Given the description of an element on the screen output the (x, y) to click on. 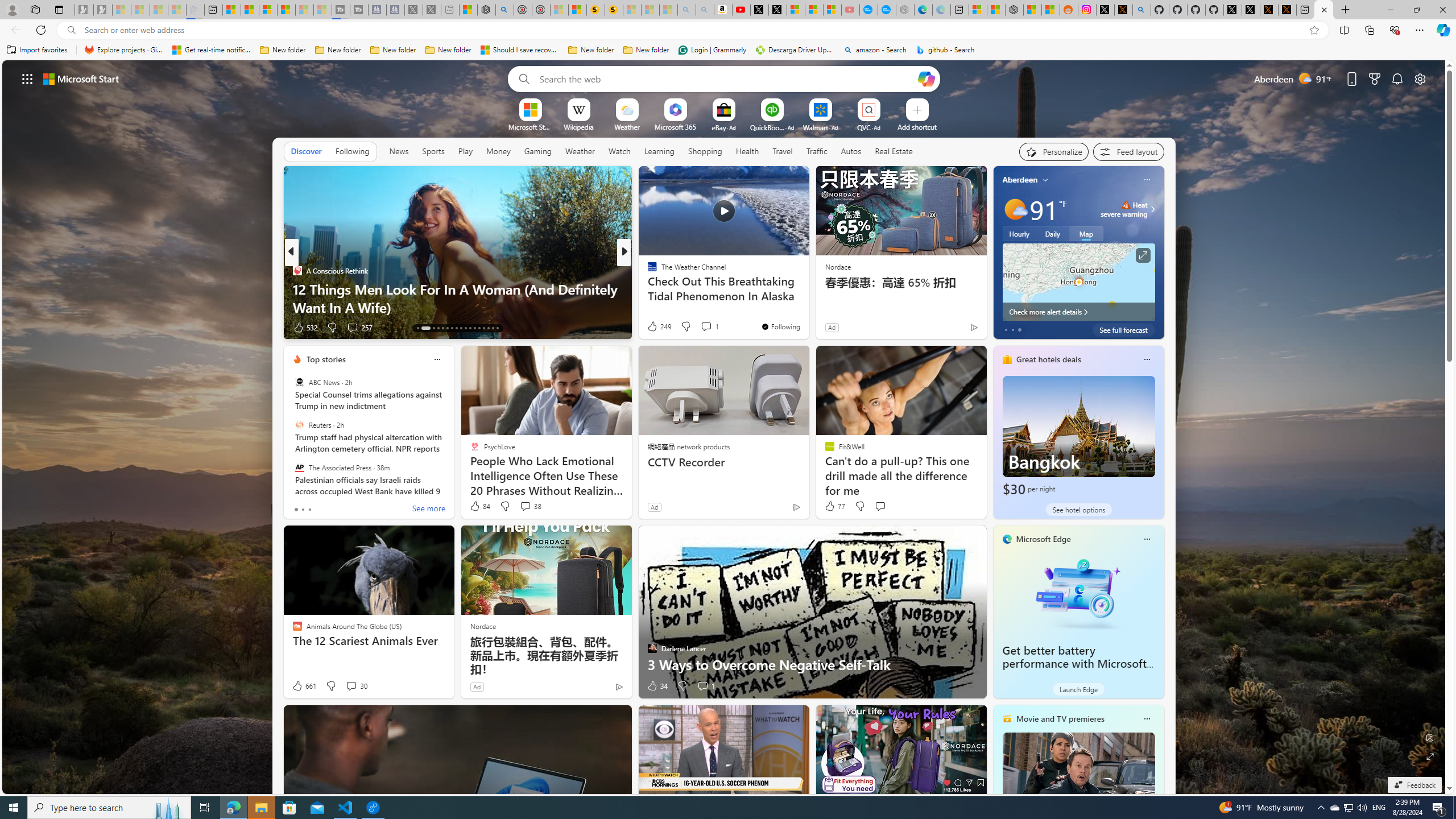
200+ Countries Coverage (807, 307)
Hourly (1018, 233)
Get better battery performance with Microsoft Edge (1074, 664)
tab-0 (295, 509)
AutomationID: tab-18 (446, 328)
View comments 38 Comment (525, 505)
Login | Grammarly (712, 49)
Class: control (27, 78)
